Given the description of an element on the screen output the (x, y) to click on. 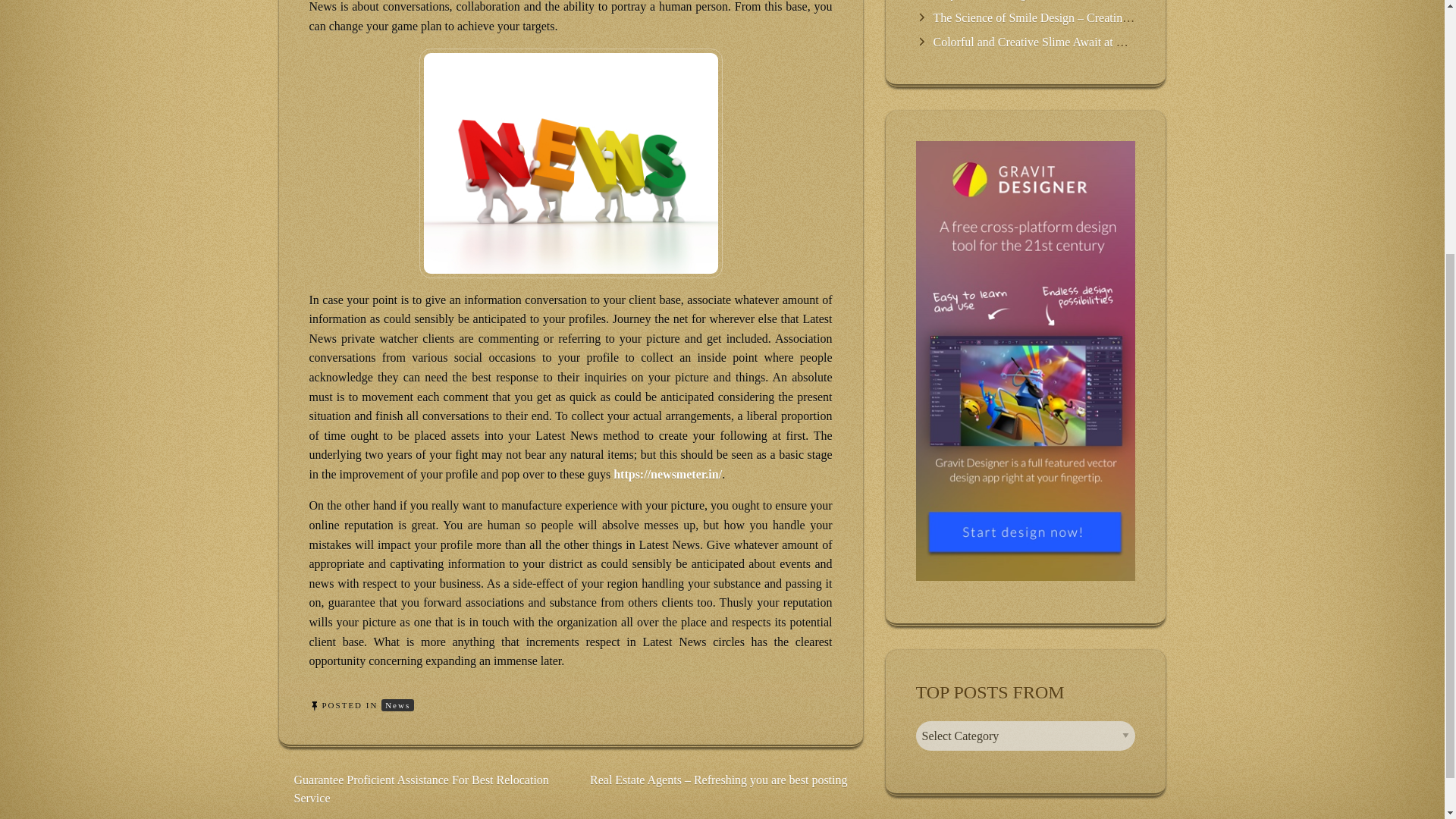
Colorful and Creative Slime Await at Our Variety Shop (1066, 42)
Guarantee Proficient Assistance For Best Relocation Service (421, 788)
News (397, 705)
